Given the description of an element on the screen output the (x, y) to click on. 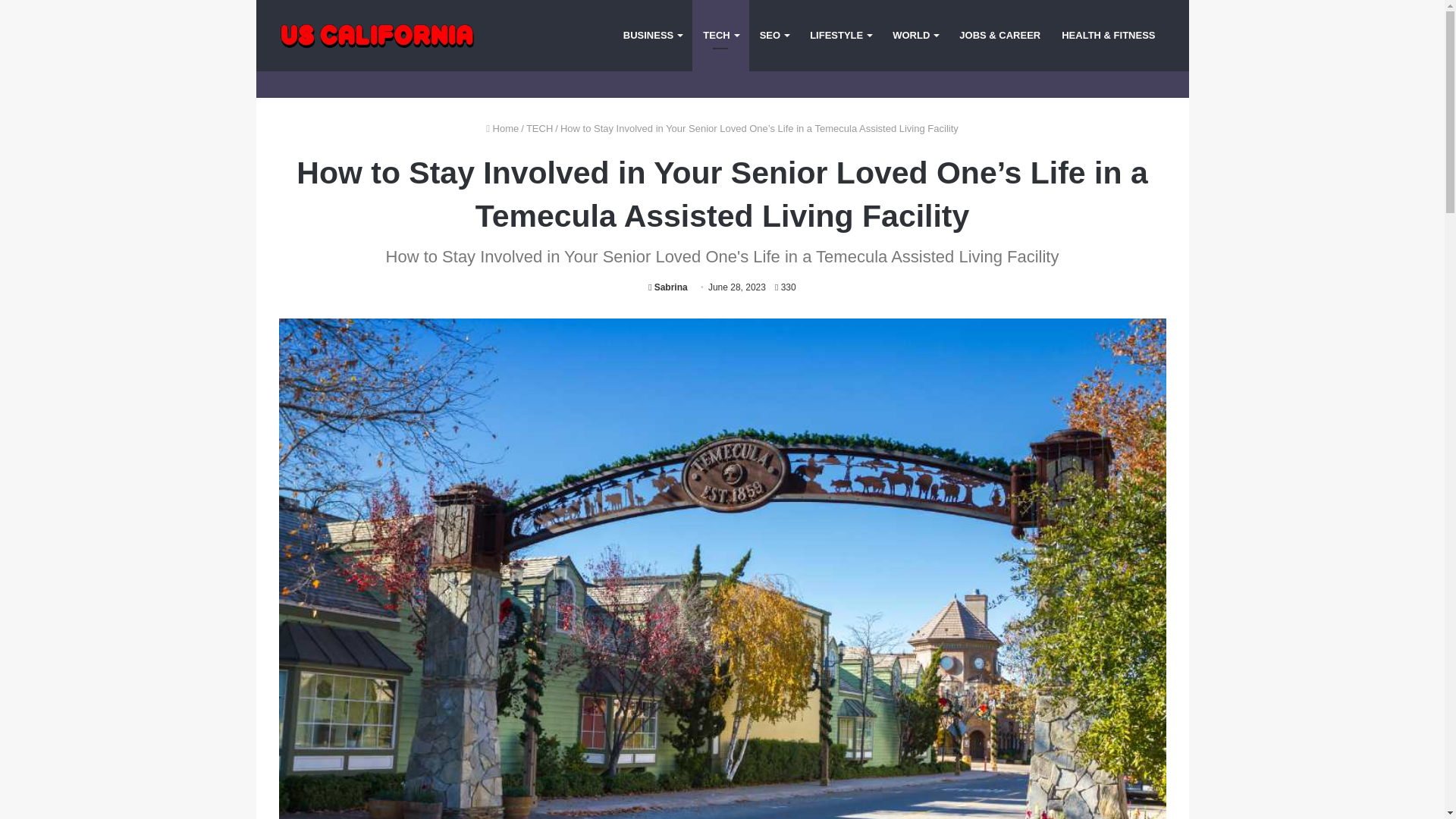
TECH (539, 128)
WORLD (915, 35)
BUSINESS (652, 35)
Home (502, 128)
LIFESTYLE (840, 35)
Us California (377, 35)
Sabrina (667, 286)
Sabrina (667, 286)
